Given the description of an element on the screen output the (x, y) to click on. 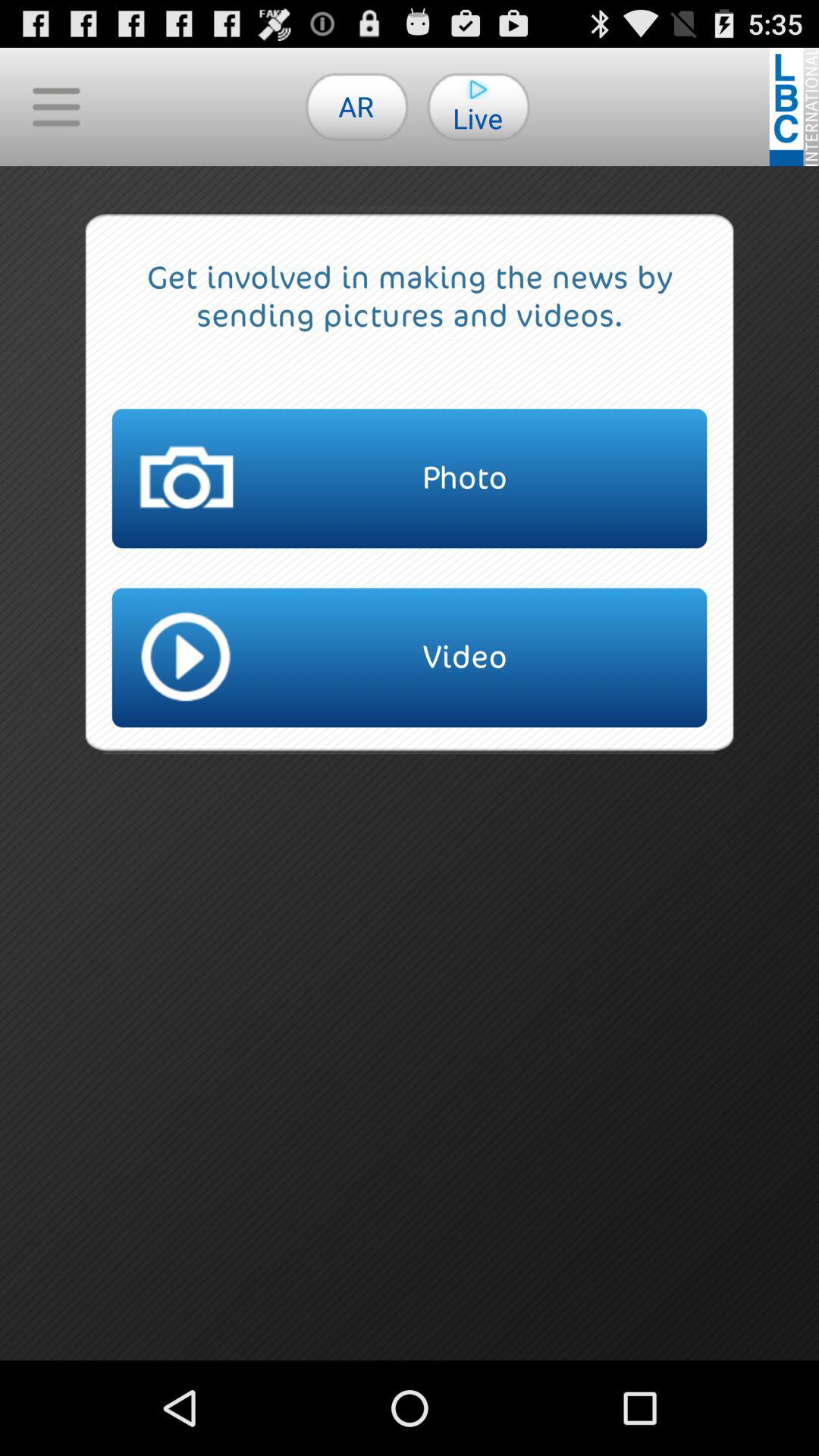
click icon at the top left corner (55, 106)
